Given the description of an element on the screen output the (x, y) to click on. 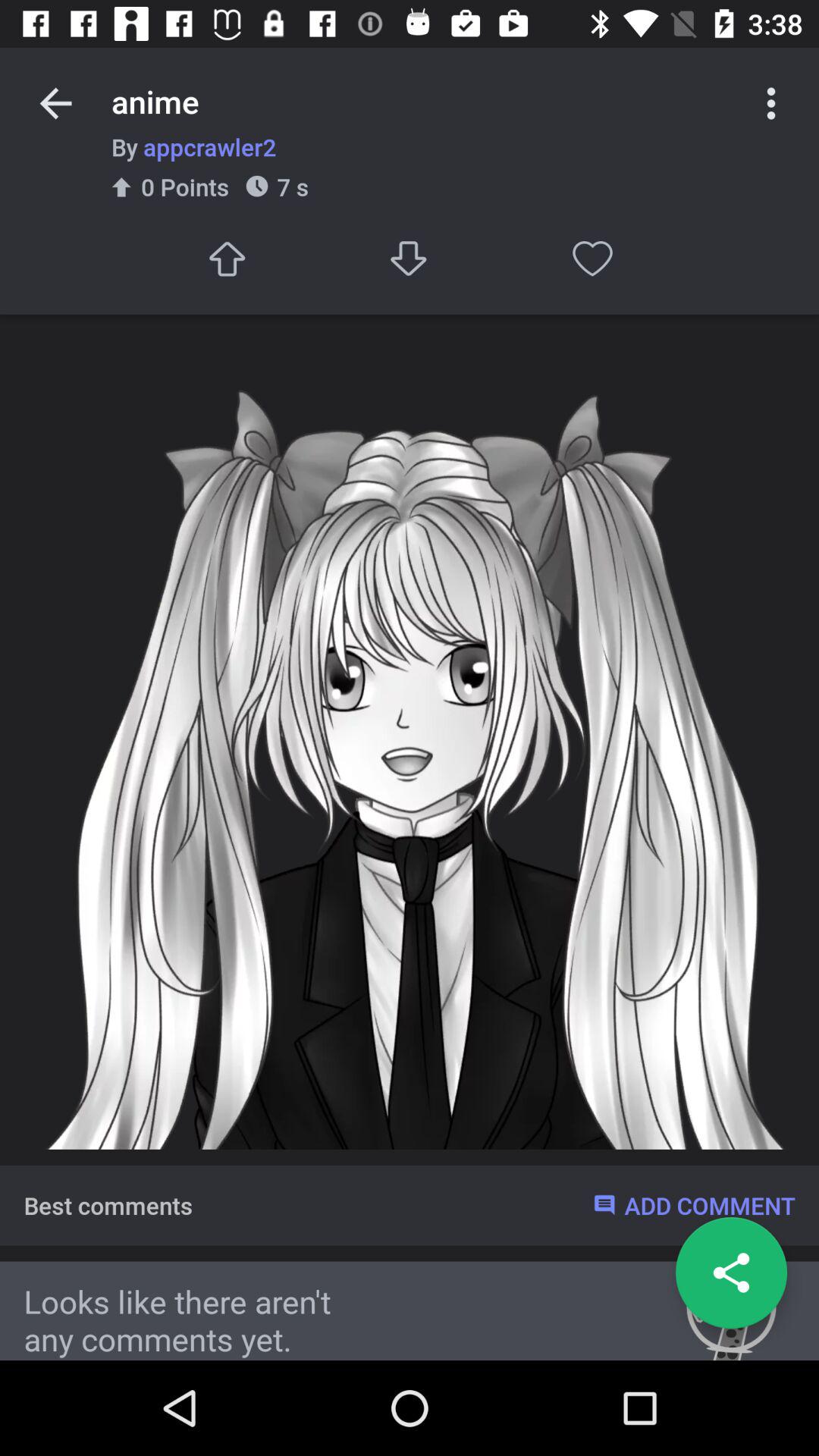
upload image (226, 258)
